Given the description of an element on the screen output the (x, y) to click on. 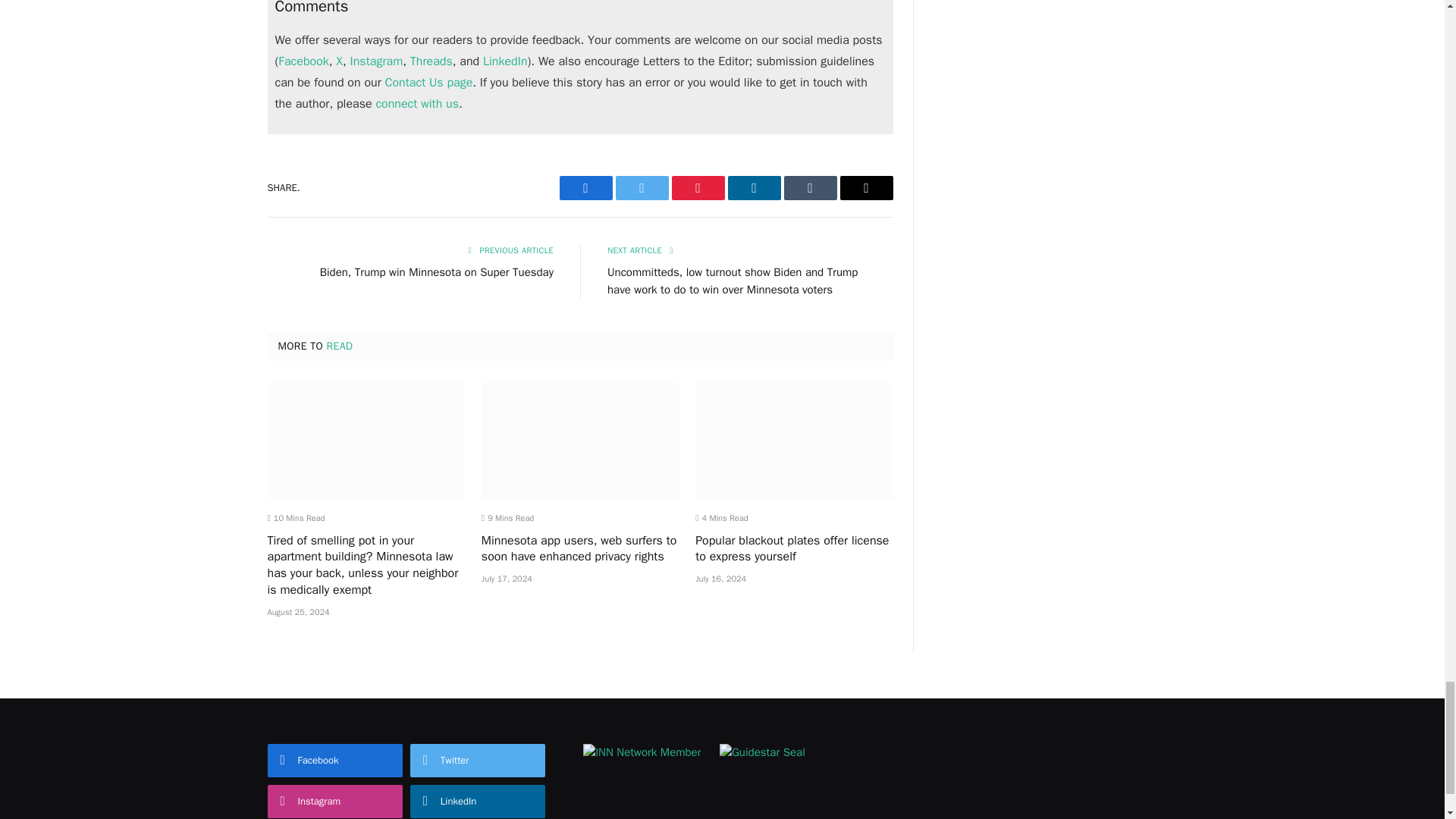
Share via Email (866, 187)
Share on Tumblr (810, 187)
Share on LinkedIn (754, 187)
Share on Pinterest (698, 187)
Share on Facebook (585, 187)
